Given the description of an element on the screen output the (x, y) to click on. 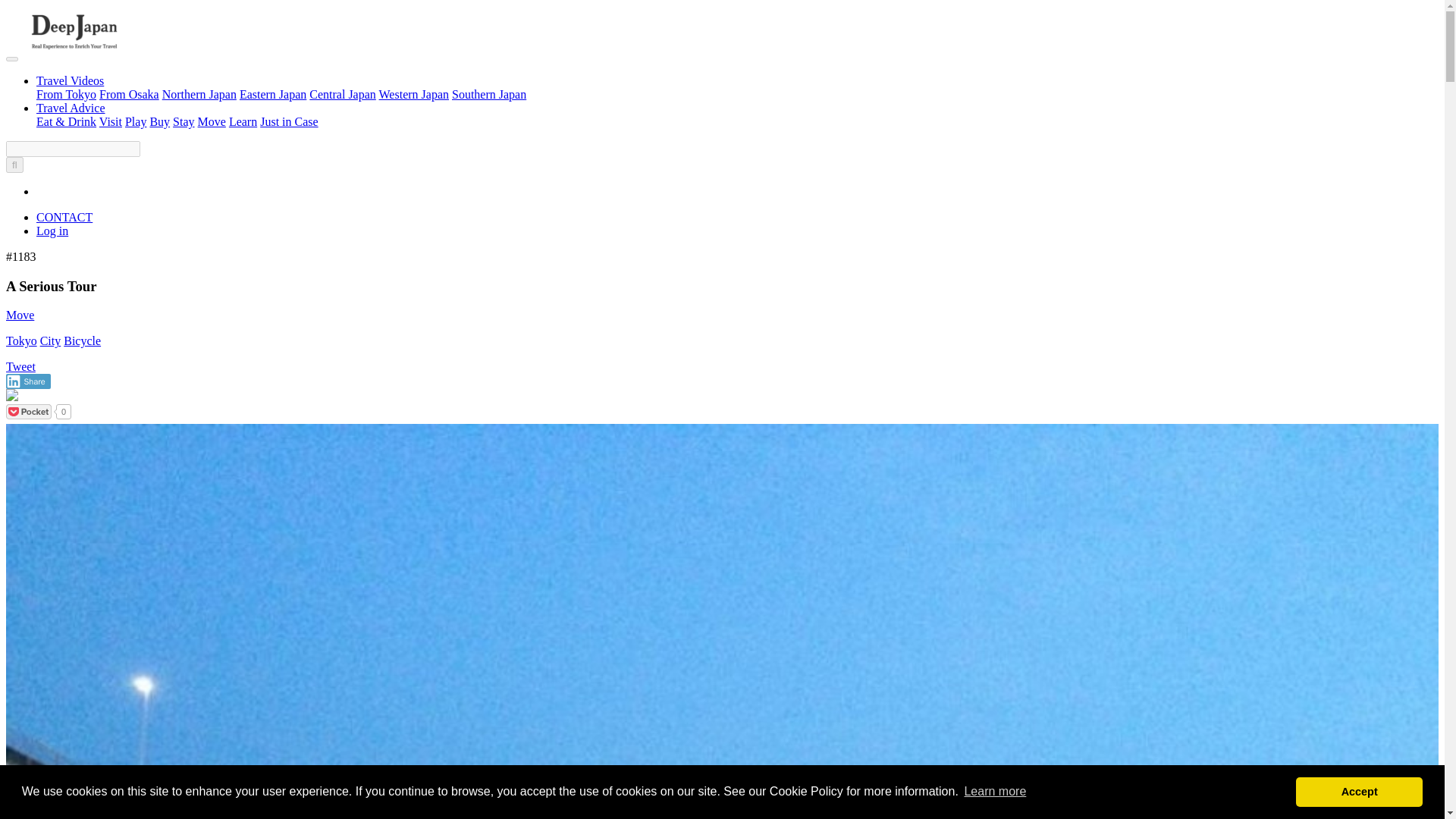
Play (136, 121)
Eastern Japan (272, 93)
Buy (159, 121)
Western Japan (413, 93)
Visit (110, 121)
Share (27, 381)
CONTACT (64, 216)
Learn more (993, 791)
Move (19, 314)
Stay (183, 121)
Tweet (19, 366)
Learn (242, 121)
City (50, 340)
From Tokyo (66, 93)
Accept (1358, 791)
